Given the description of an element on the screen output the (x, y) to click on. 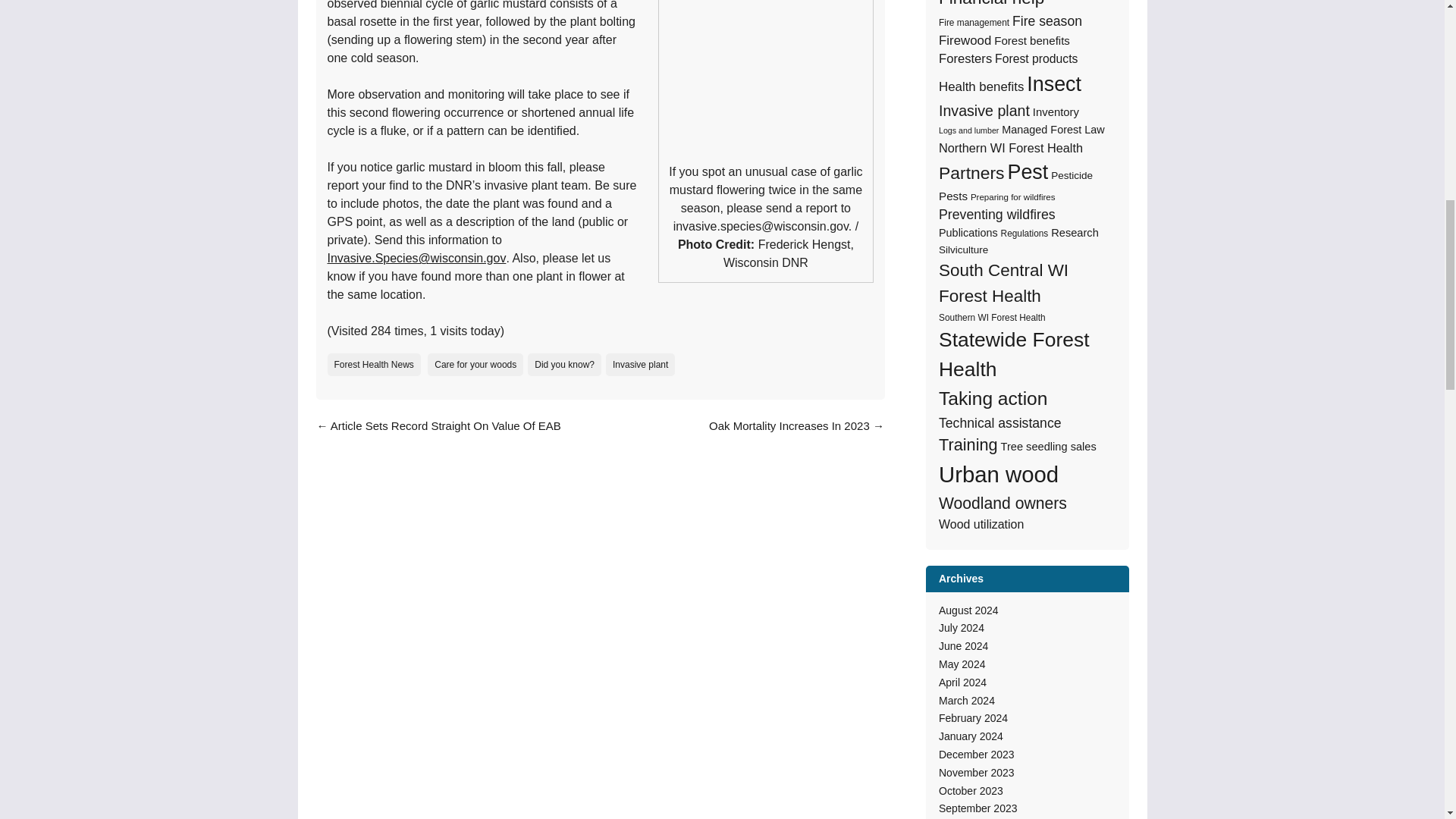
Invasive plant (640, 363)
Did you know? (564, 363)
Financial help (991, 5)
Care for your woods (475, 363)
Forest Health News (373, 363)
